Given the description of an element on the screen output the (x, y) to click on. 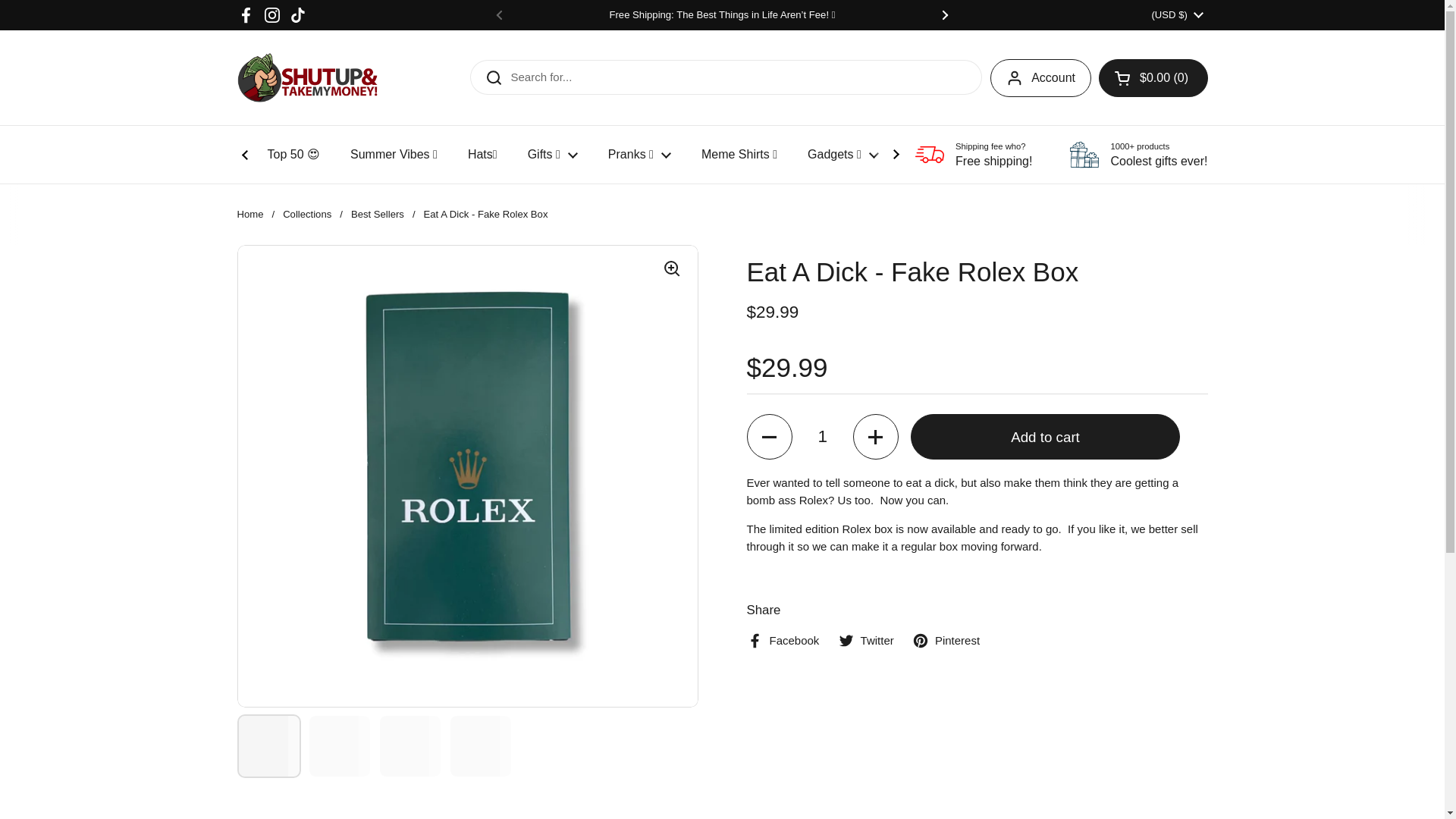
Share on facebook (781, 641)
Open cart (1153, 77)
Share on pinterest (945, 641)
Shut Up and Take my MONEY (306, 77)
Instagram (271, 14)
Facebook (244, 14)
TikTok (296, 14)
1 (822, 436)
Share on twitter (865, 641)
Account (1040, 77)
